Given the description of an element on the screen output the (x, y) to click on. 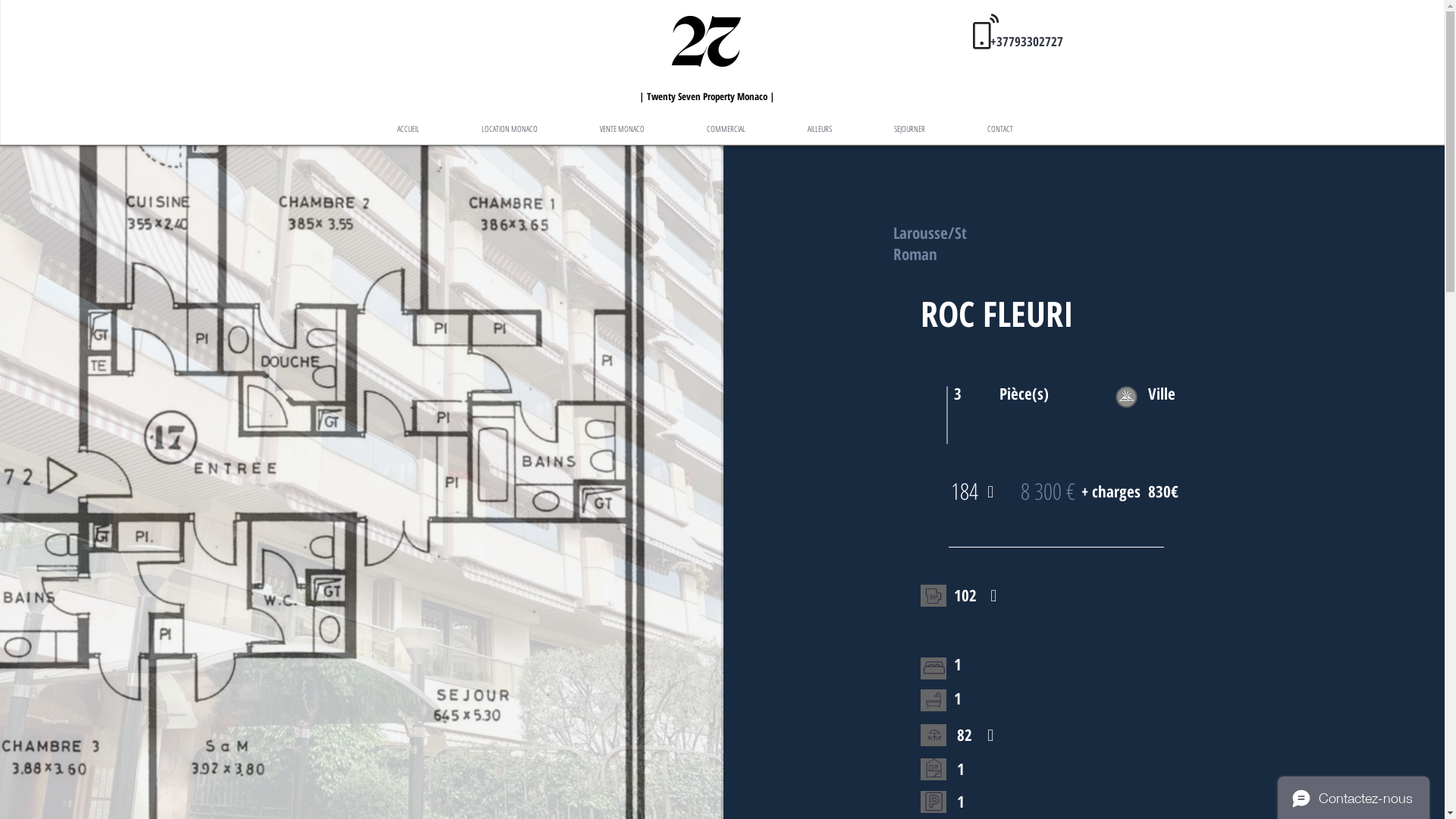
COMMERCIAL Element type: text (724, 128)
AILLEURS Element type: text (819, 128)
ACCUEIL Element type: text (407, 128)
LOCATION MONACO Element type: text (509, 128)
VENTE MONACO Element type: text (621, 128)
+37793302727 Element type: text (1026, 41)
CONTACT Element type: text (999, 128)
SEJOURNER Element type: text (909, 128)
| Twenty Seven Property Monaco | Element type: text (707, 94)
